Given the description of an element on the screen output the (x, y) to click on. 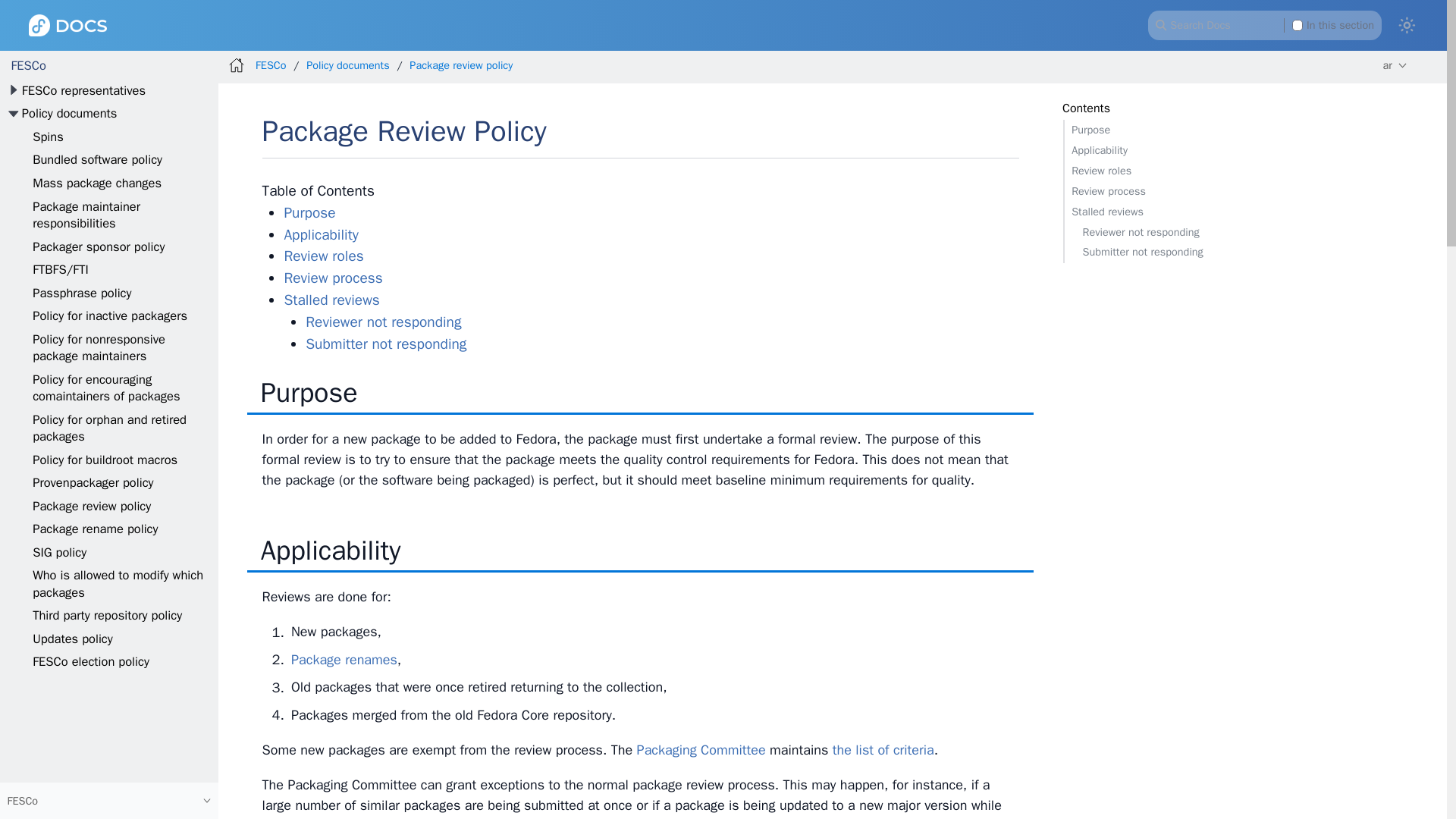
Third party repository policy (107, 615)
Policy for orphan and retired packages (109, 427)
Package rename policy (94, 528)
Who is allowed to modify which packages (117, 583)
on (1297, 24)
Bundled software policy (96, 159)
FESCo (28, 65)
SIG policy (58, 552)
Show other languages of the site (1394, 65)
Package maintainer responsibilities (85, 214)
Package review policy (91, 505)
Mass package changes (96, 182)
Packager sponsor policy (98, 246)
Updates policy (72, 638)
FESCo election policy (90, 661)
